Given the description of an element on the screen output the (x, y) to click on. 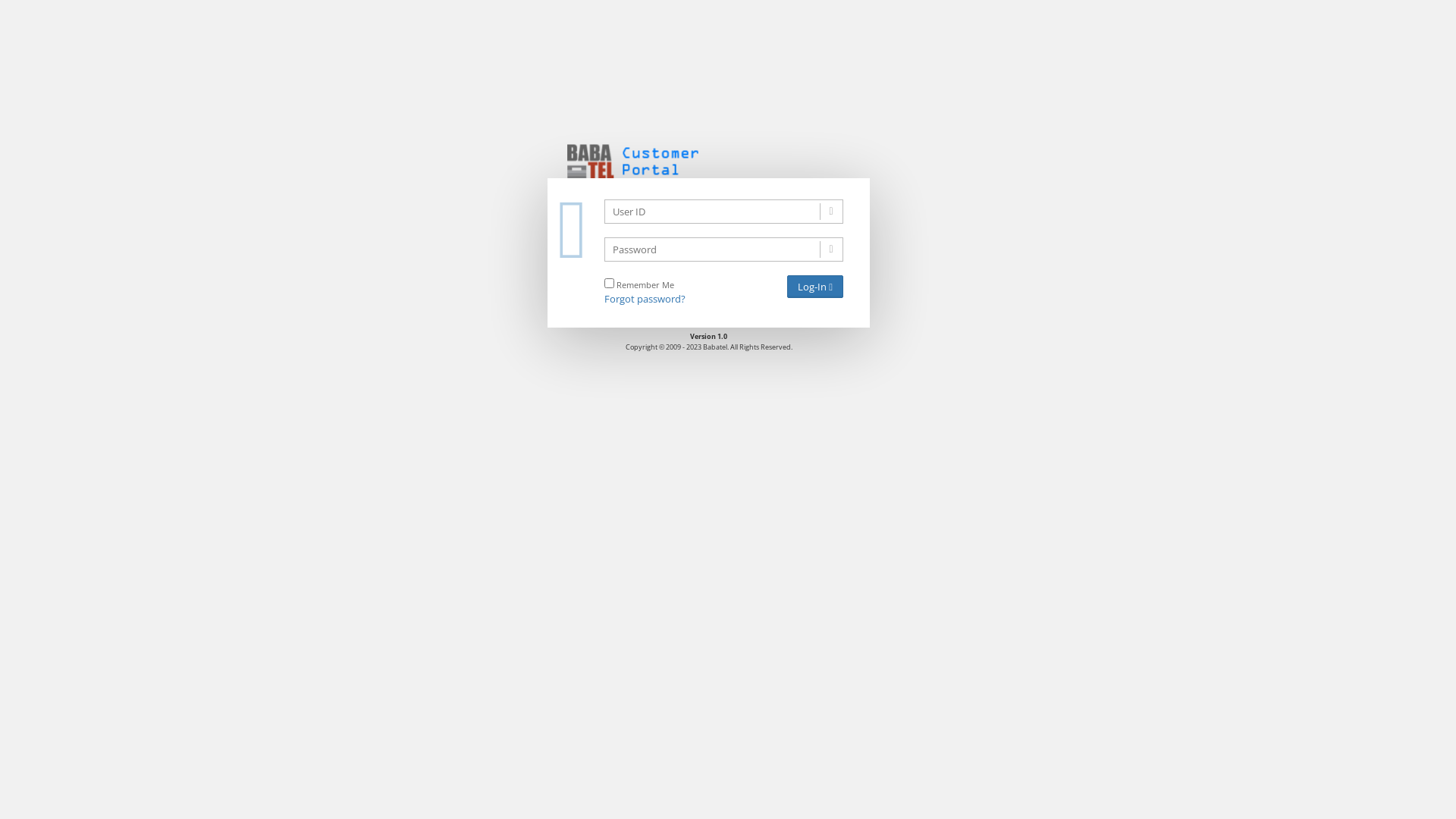
Forgot password? Element type: text (644, 298)
Log-In Element type: text (815, 286)
